Given the description of an element on the screen output the (x, y) to click on. 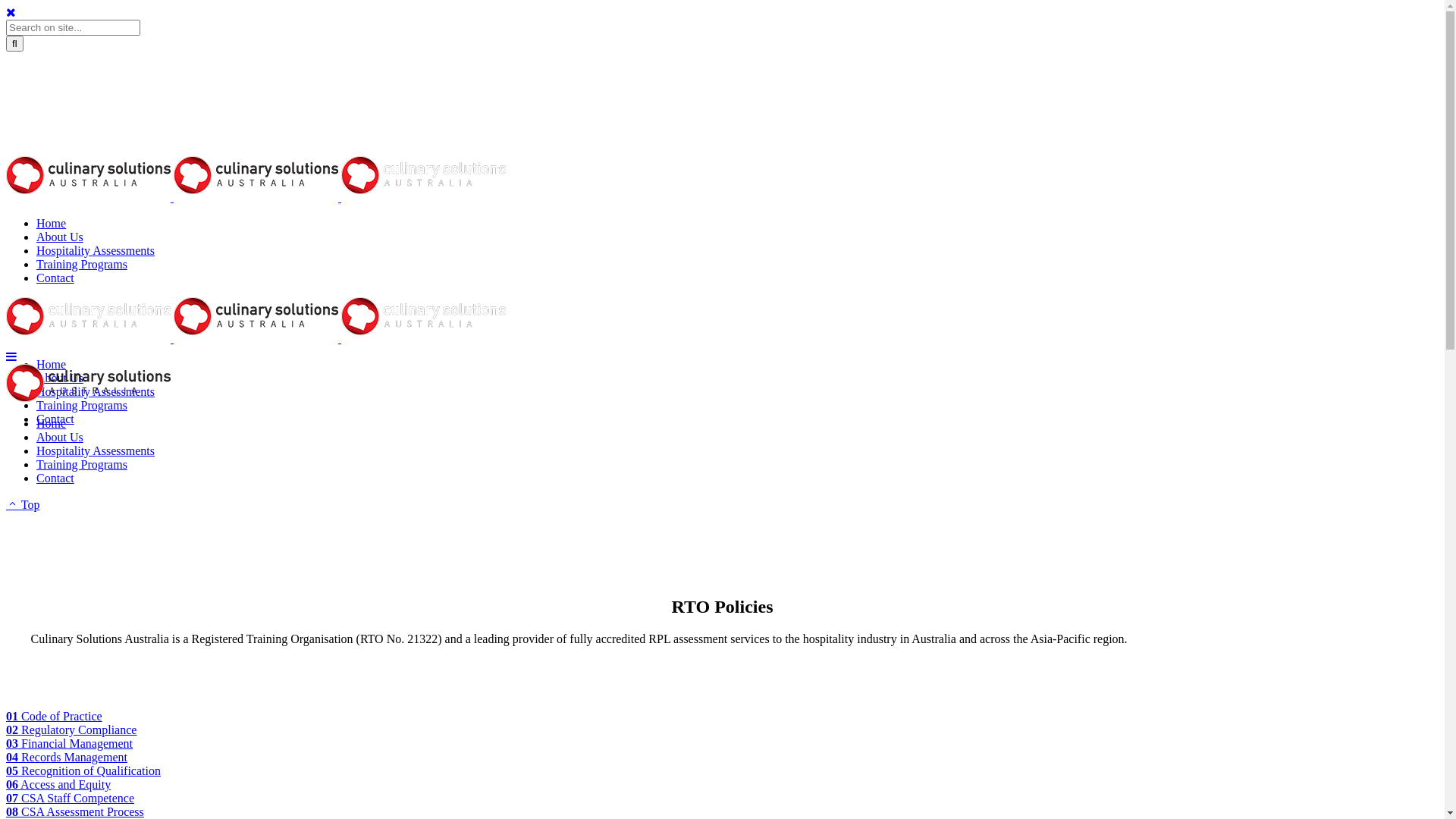
04 Records Management Element type: text (66, 756)
08 CSA Assessment Process Element type: text (75, 811)
Training Programs Element type: text (81, 464)
About Us Element type: text (59, 377)
About Us Element type: text (59, 236)
Training Programs Element type: text (81, 404)
01 Code of Practice Element type: text (54, 715)
Training Programs Element type: text (81, 263)
Top Element type: text (22, 504)
Hospitality Assessments Element type: text (95, 450)
Hospitality Assessments Element type: text (95, 391)
Contact Element type: text (55, 418)
Home Element type: text (50, 423)
Home Element type: text (50, 363)
05 Recognition of Qualification Element type: text (83, 770)
Home Element type: text (50, 222)
Contact Element type: text (55, 477)
Hospitality Assessments Element type: text (95, 250)
About Us Element type: text (59, 436)
07 CSA Staff Competence Element type: text (70, 797)
02 Regulatory Compliance Element type: text (71, 729)
06 Access and Equity Element type: text (58, 784)
03 Financial Management Element type: text (69, 743)
Contact Element type: text (55, 277)
